Given the description of an element on the screen output the (x, y) to click on. 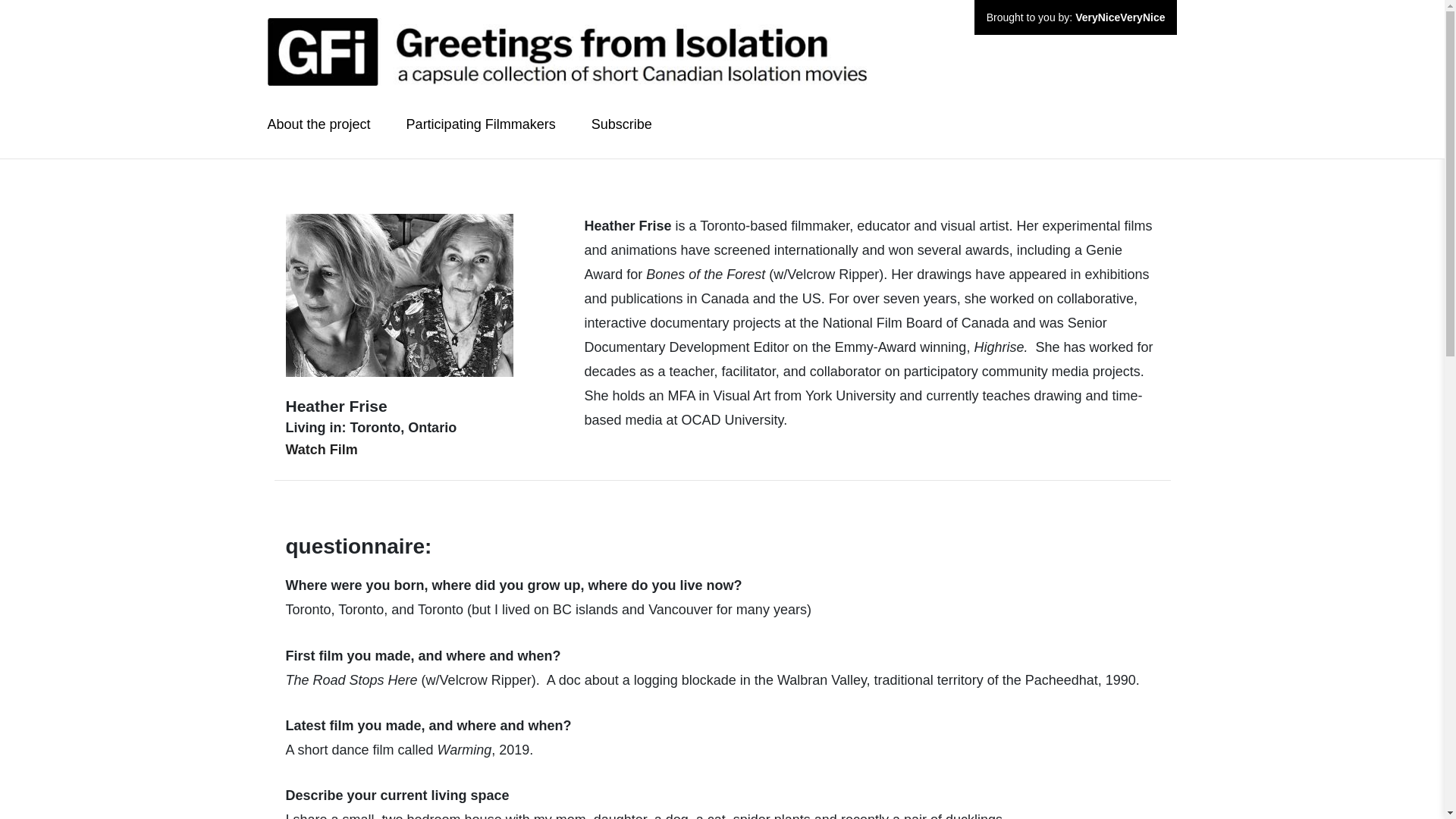
Participating Filmmakers (481, 125)
Brought to you by: VeryNiceVeryNice (722, 46)
About the project (319, 125)
Subscribe (621, 125)
Watch Film (320, 449)
